Given the description of an element on the screen output the (x, y) to click on. 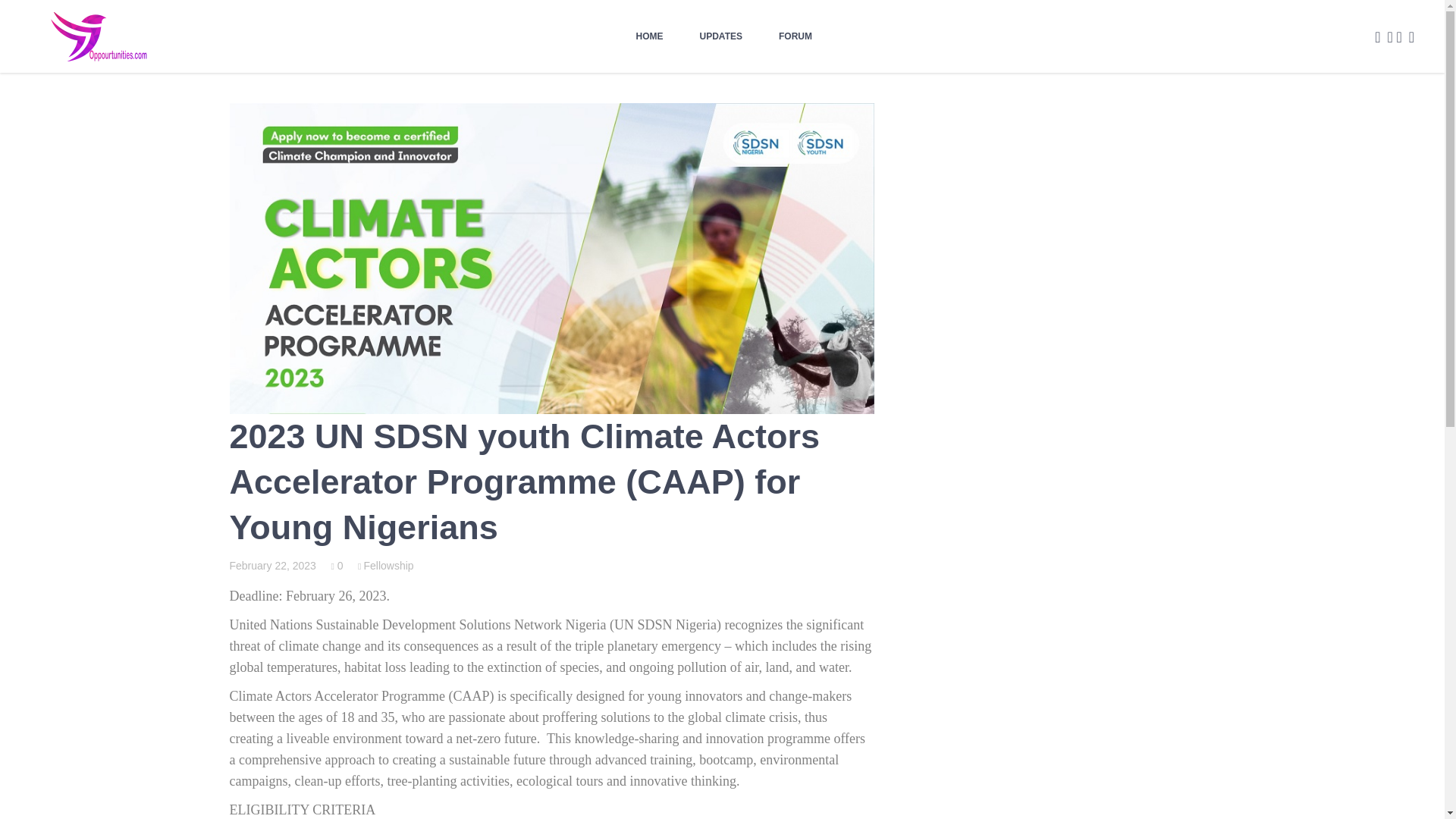
0 (336, 565)
Like this (336, 565)
February 22, 2023 (271, 565)
FORUM (794, 36)
Fellowship (385, 565)
UPDATES (720, 36)
